Given the description of an element on the screen output the (x, y) to click on. 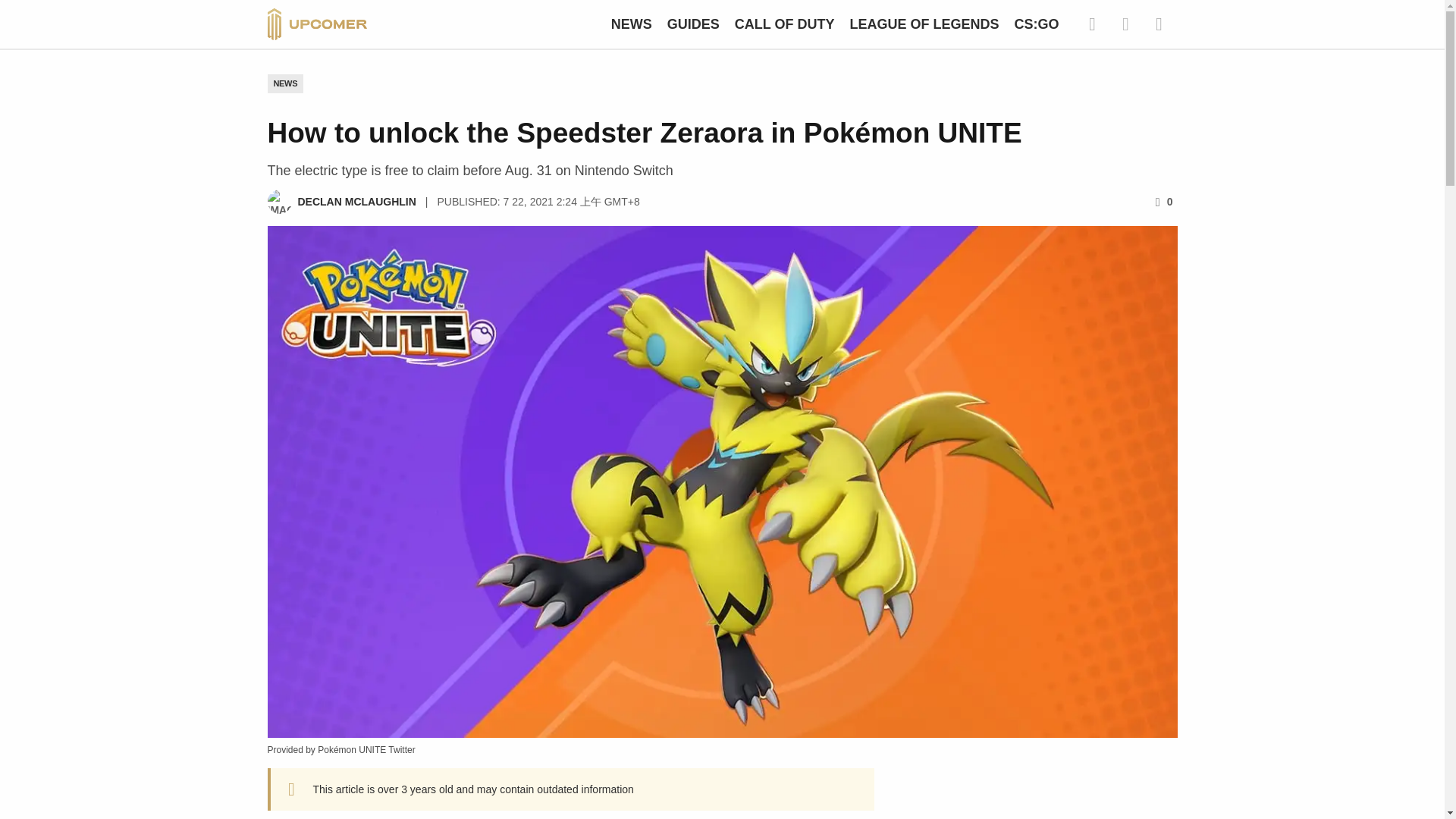
CALL OF DUTY (784, 23)
LEAGUE OF LEGENDS (923, 23)
GUIDES (692, 23)
Expand Menu (1157, 24)
Dark Mode (1124, 24)
CS:GO (1035, 23)
NEWS (631, 23)
Search (1091, 24)
